Given the description of an element on the screen output the (x, y) to click on. 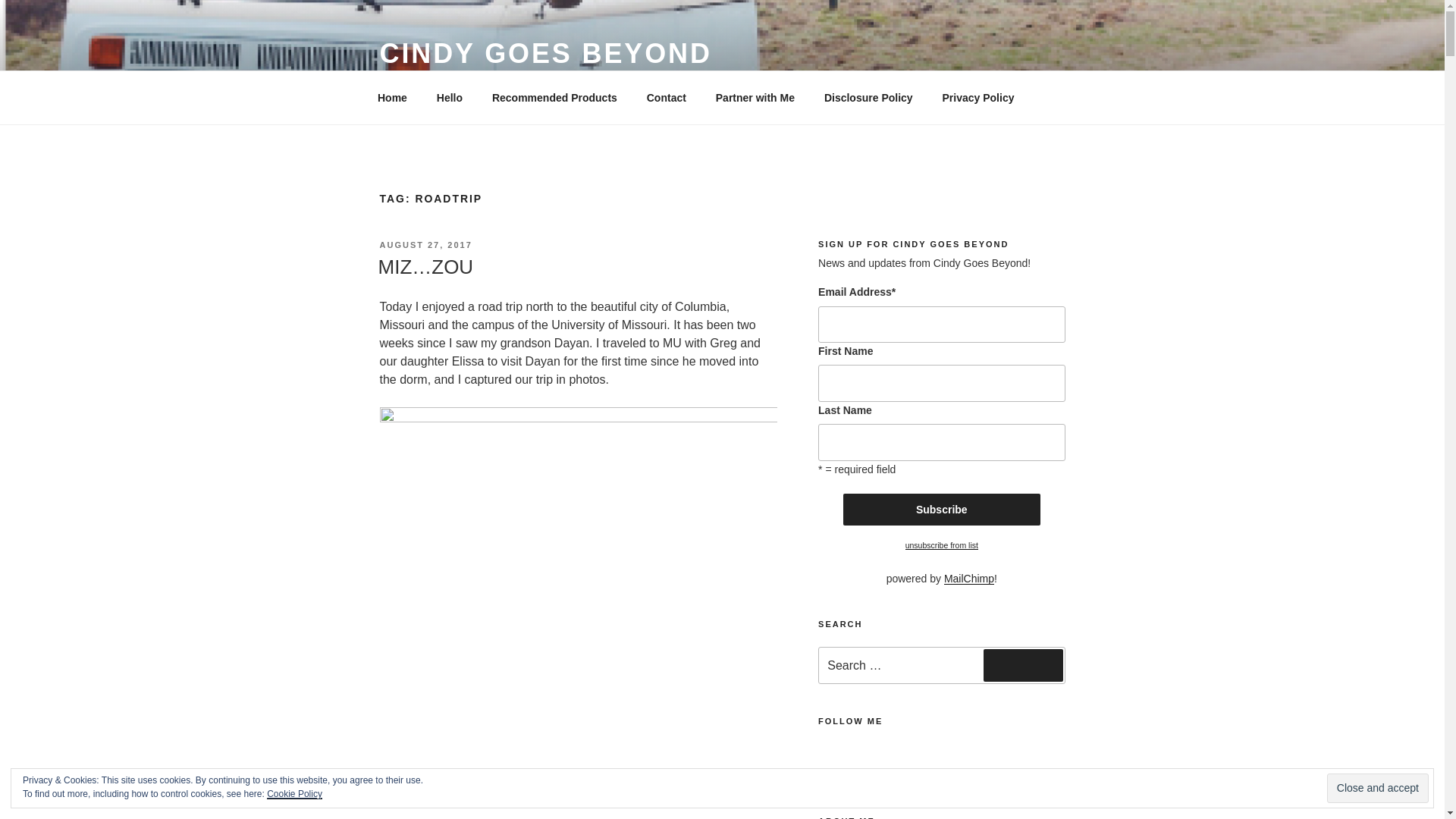
Cookie Policy (293, 793)
Partner with Me (754, 97)
Close and accept (1377, 788)
Close and accept (1377, 788)
AUGUST 27, 2017 (424, 244)
Subscribe (942, 509)
Contact (665, 97)
Hello (449, 97)
Search (1023, 664)
CINDY GOES BEYOND (544, 52)
Home (392, 97)
unsubscribe from list (941, 544)
Facebook (857, 755)
MailChimp (968, 578)
Subscribe (942, 509)
